Given the description of an element on the screen output the (x, y) to click on. 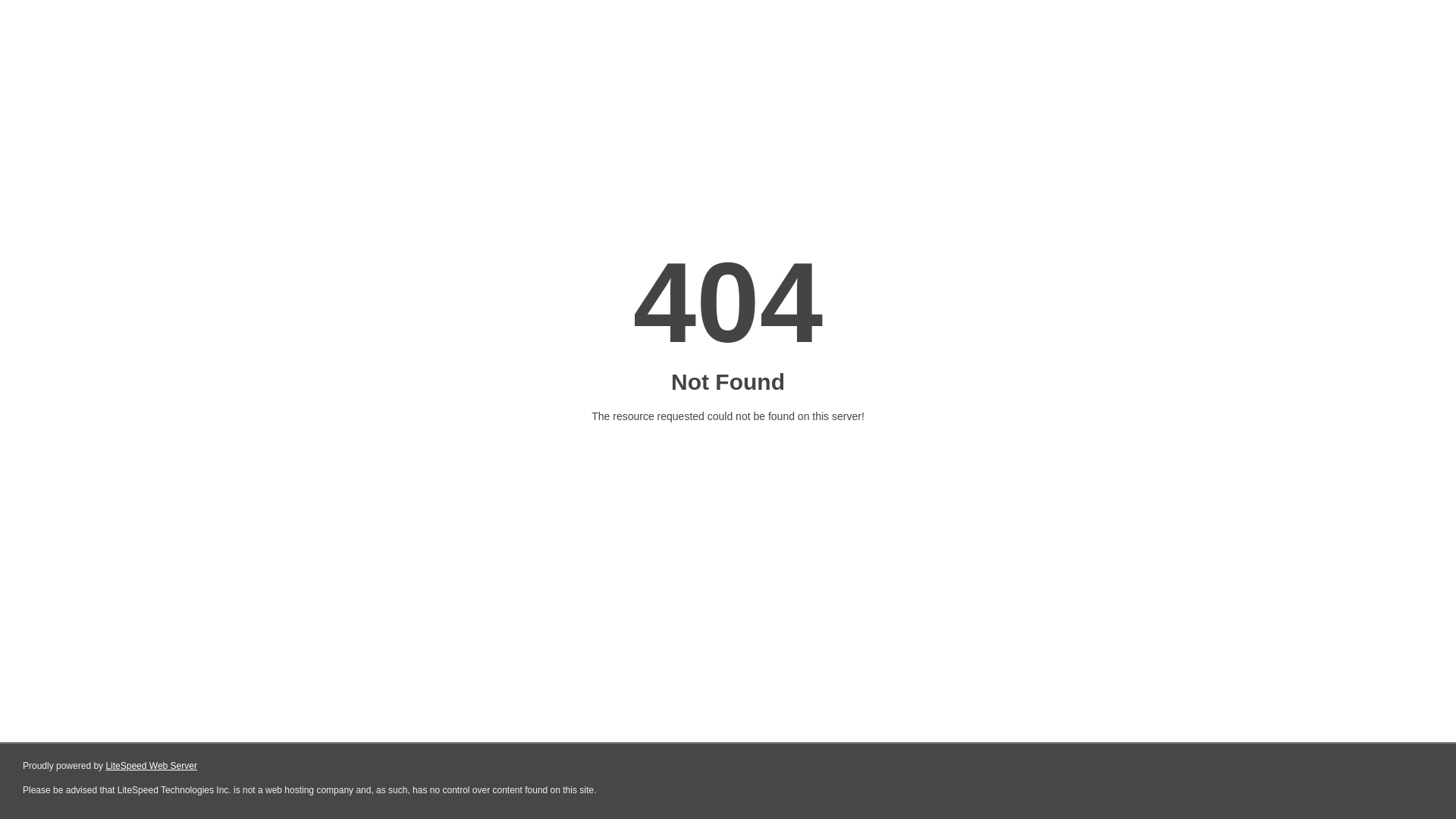
LiteSpeed Web Server Element type: text (151, 765)
